Given the description of an element on the screen output the (x, y) to click on. 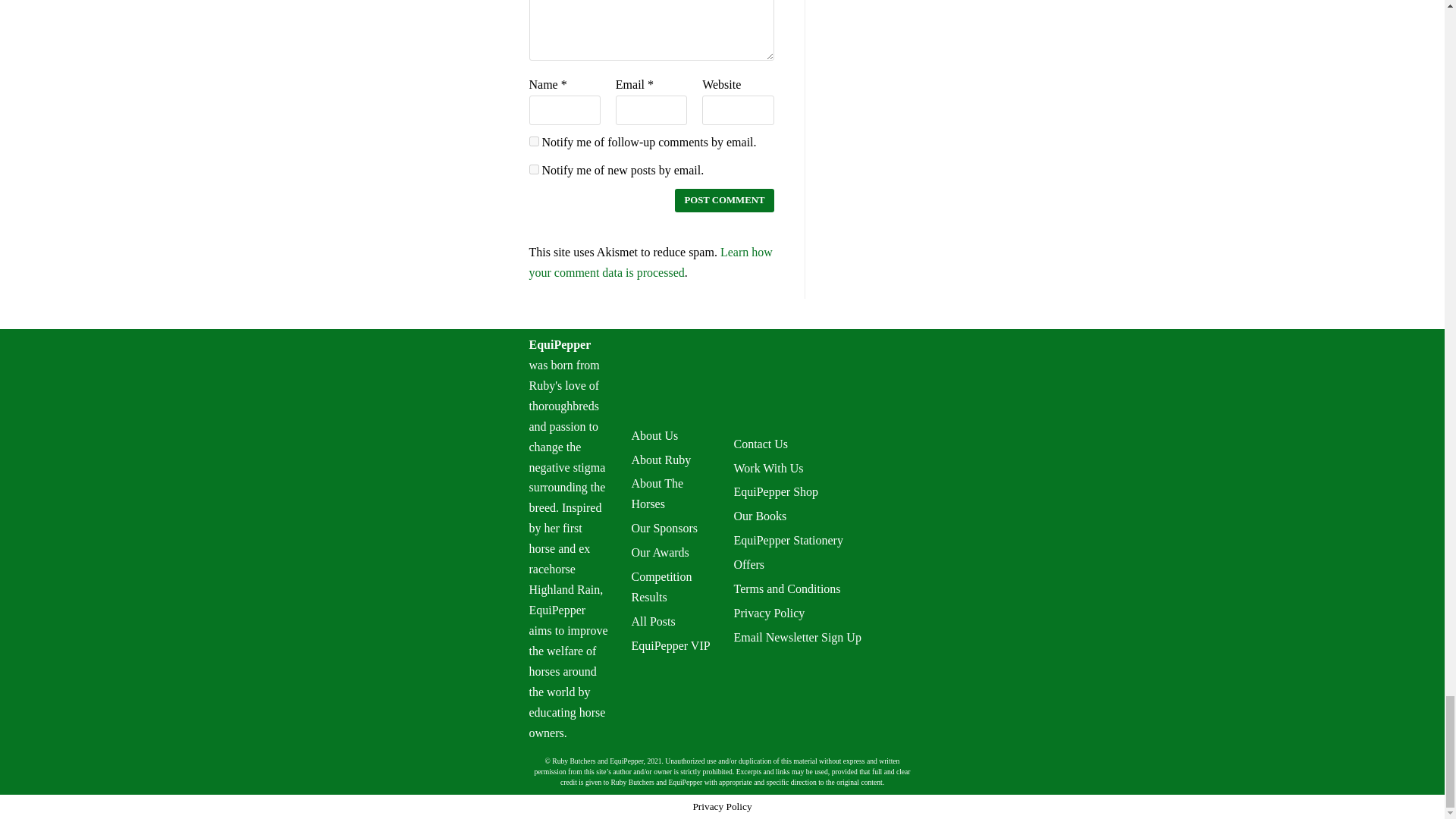
Post Comment (724, 200)
subscribe (533, 141)
subscribe (533, 169)
